Given the description of an element on the screen output the (x, y) to click on. 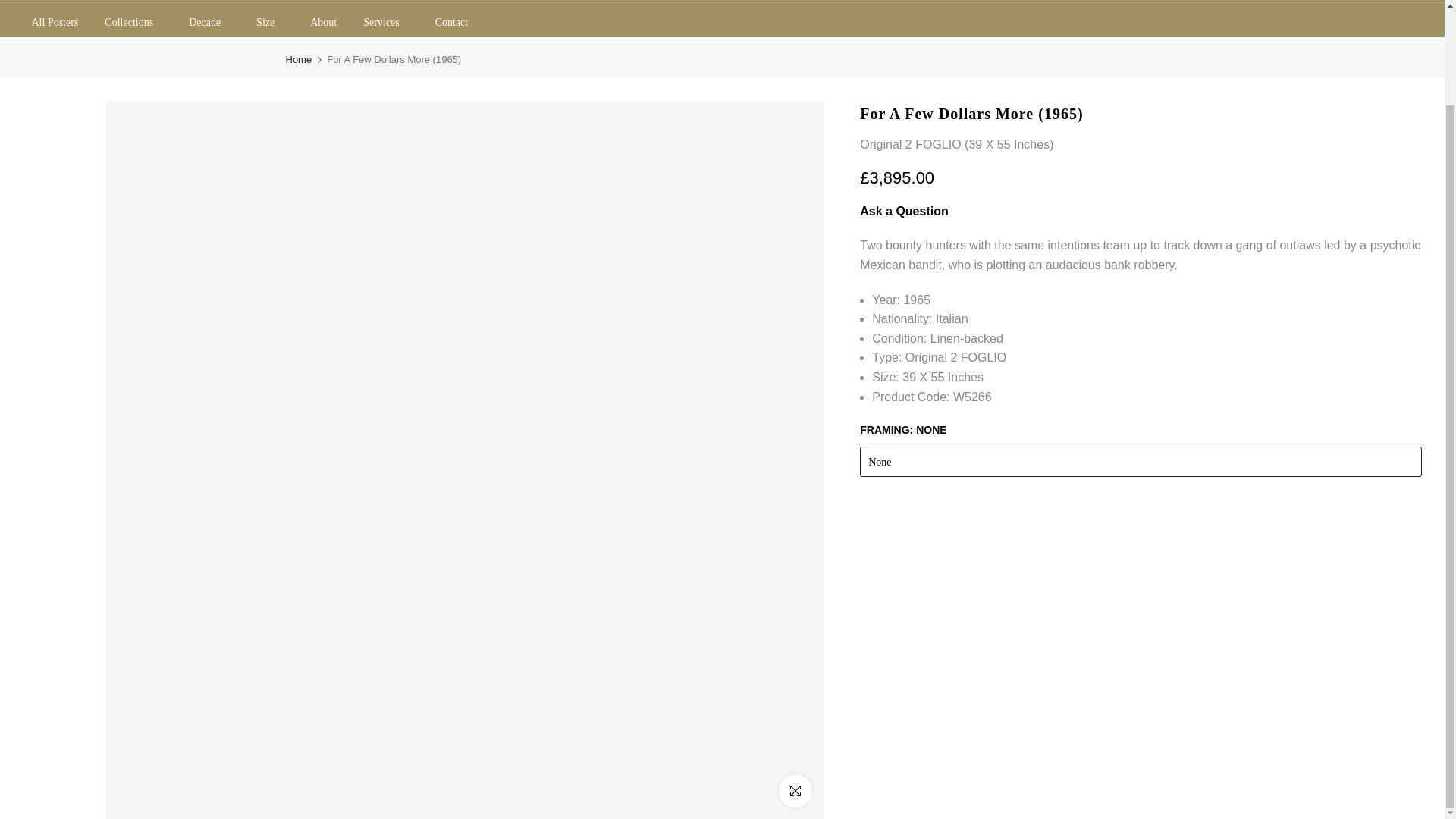
Home (298, 59)
Size (270, 22)
Services (386, 22)
None (1141, 461)
Collections (133, 22)
About (323, 22)
All Posters (54, 22)
Ask a Question (903, 210)
Contact (451, 22)
Decade (209, 22)
